Given the description of an element on the screen output the (x, y) to click on. 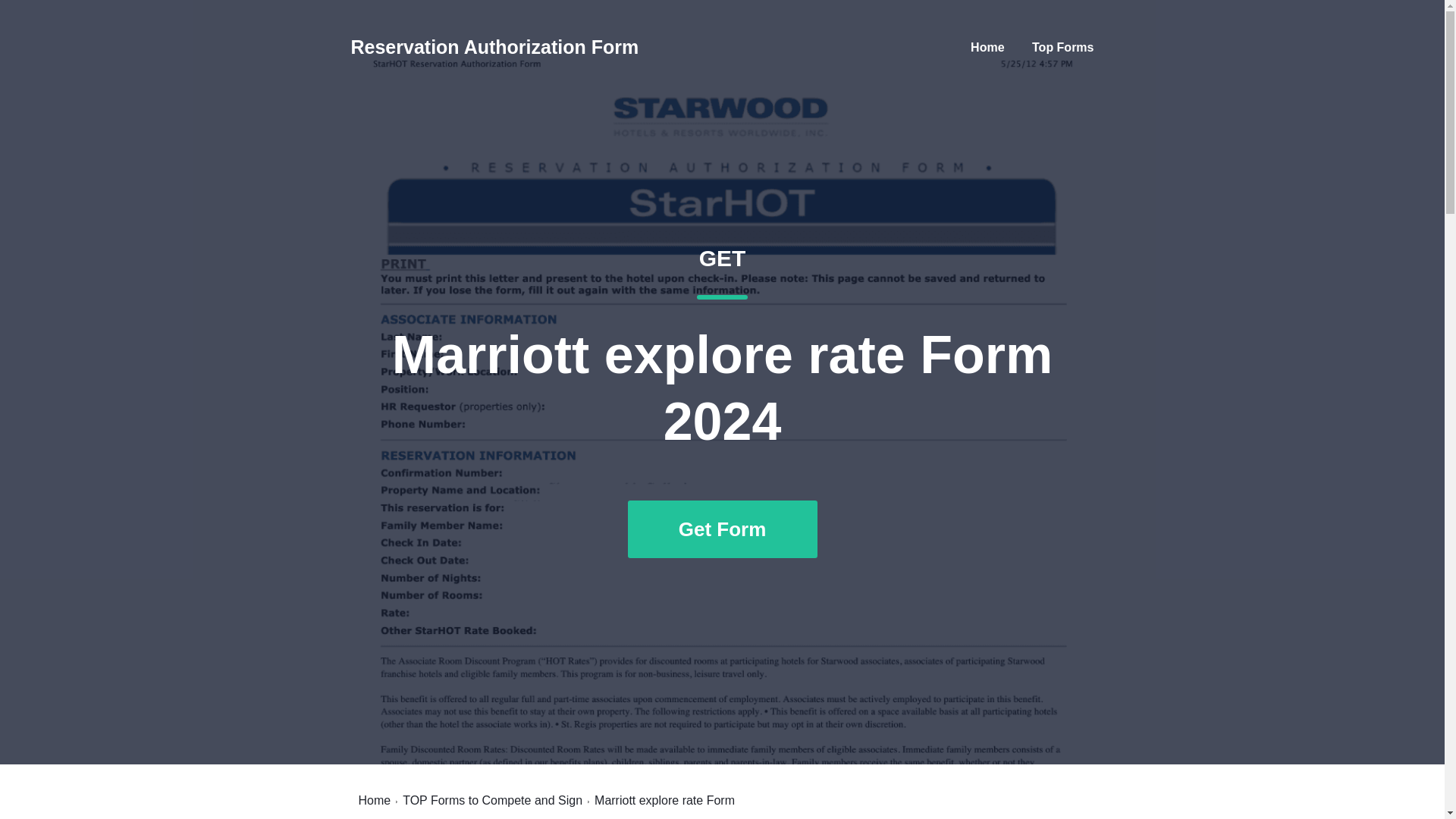
Reservation Authorization Form (494, 46)
Top Forms (987, 47)
TOP Forms to Compete and Sign (1062, 47)
Home (492, 800)
